Given the description of an element on the screen output the (x, y) to click on. 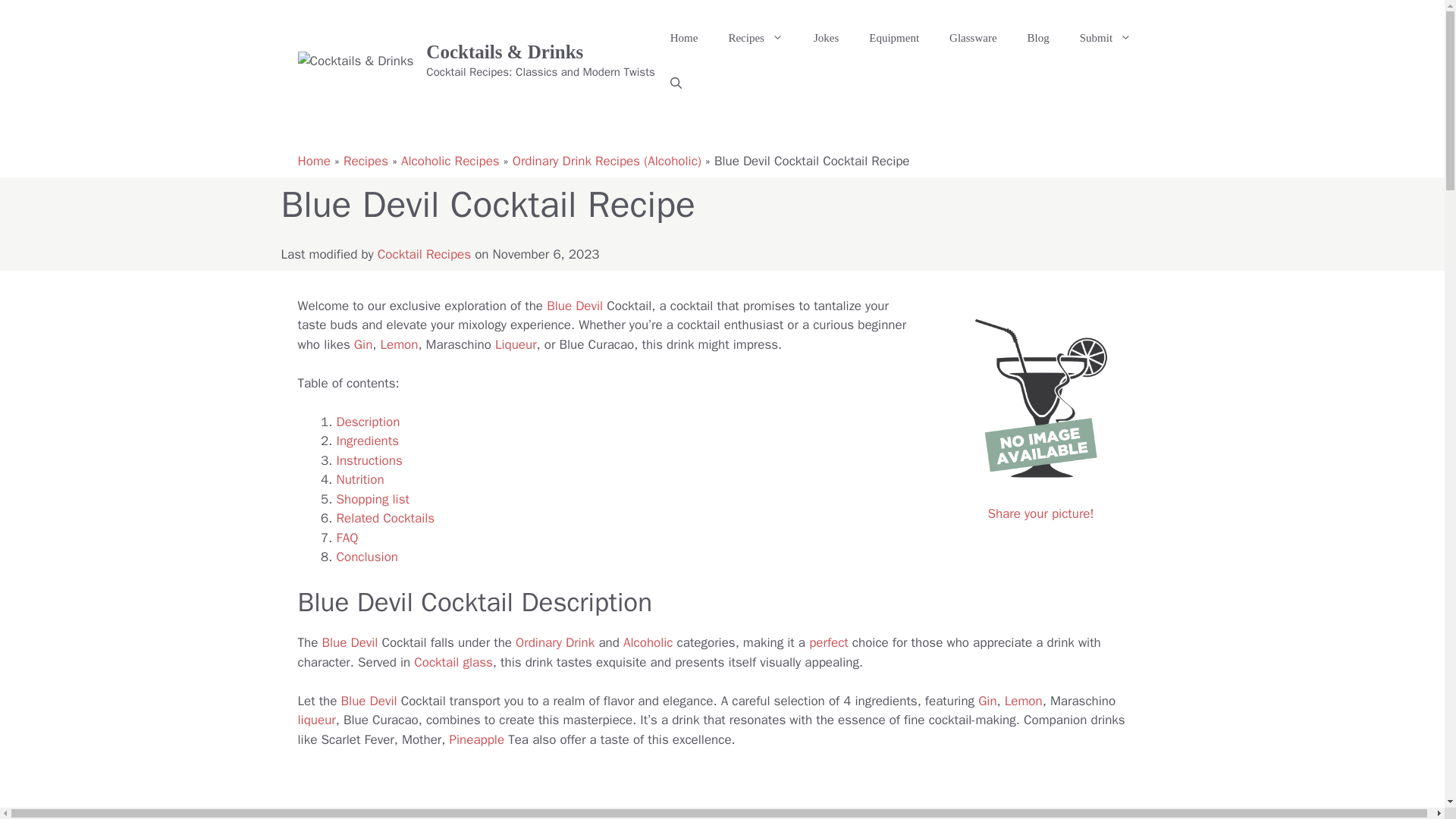
Recipes (755, 37)
Jokes (825, 37)
Home (684, 37)
Glassware (972, 37)
Blog (1037, 37)
Equipment (893, 37)
